Given the description of an element on the screen output the (x, y) to click on. 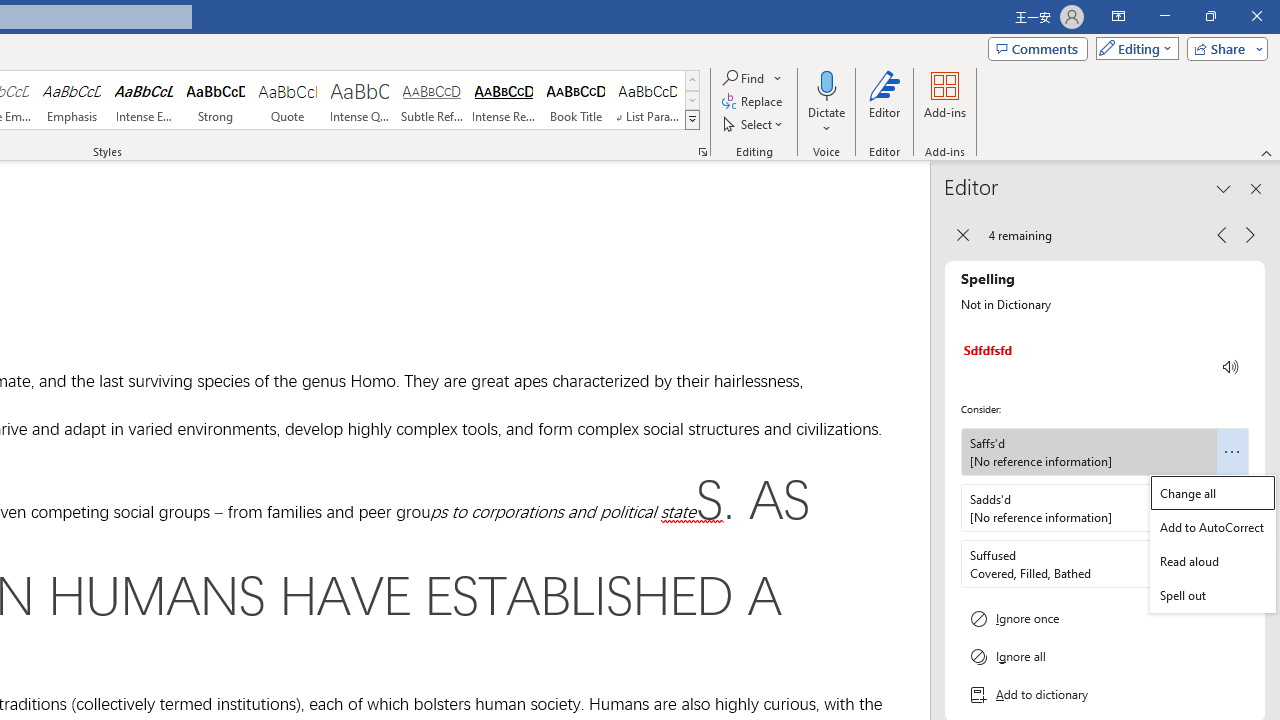
Back (962, 234)
Read aloud (1212, 561)
Add to dictionary (1105, 695)
More options for Saffs'd (1232, 452)
Book Title (575, 100)
Change all (1212, 492)
Spell out (1212, 595)
Subtle Reference (431, 100)
